Given the description of an element on the screen output the (x, y) to click on. 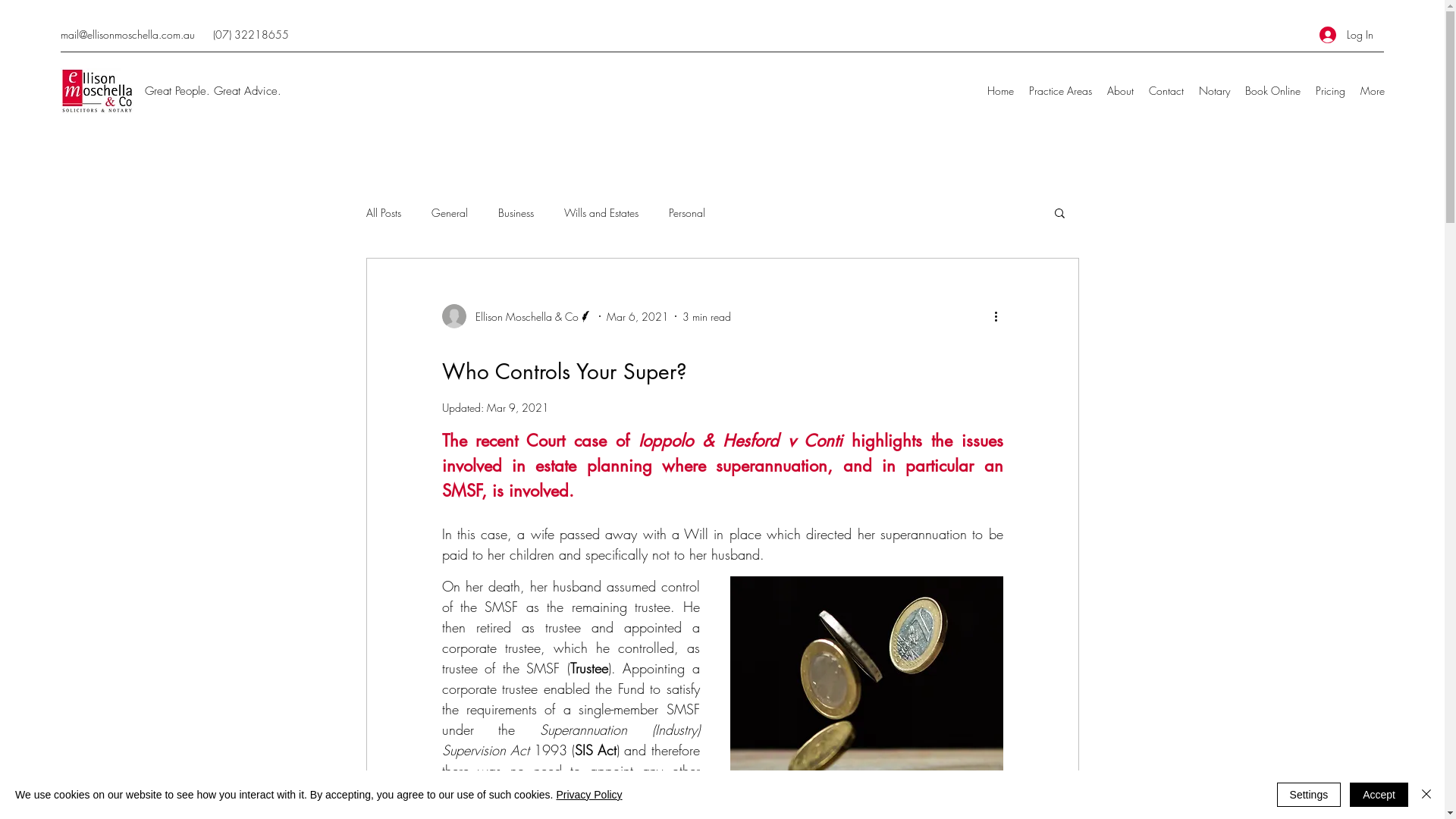
All Posts Element type: text (382, 212)
Accept Element type: text (1378, 794)
Wills and Estates Element type: text (601, 212)
Business Element type: text (515, 212)
Home Element type: text (1000, 90)
Log In Element type: text (1345, 34)
Privacy Policy Element type: text (588, 794)
About Element type: text (1120, 90)
Ellison Moschella & Co Element type: text (516, 316)
Book Online Element type: text (1272, 90)
mail@ellisonmoschella.com.au Element type: text (127, 34)
Personal Element type: text (686, 212)
Pricing Element type: text (1330, 90)
Notary Element type: text (1214, 90)
Settings Element type: text (1309, 794)
Practice Areas Element type: text (1060, 90)
General Element type: text (448, 212)
Contact Element type: text (1166, 90)
